Given the description of an element on the screen output the (x, y) to click on. 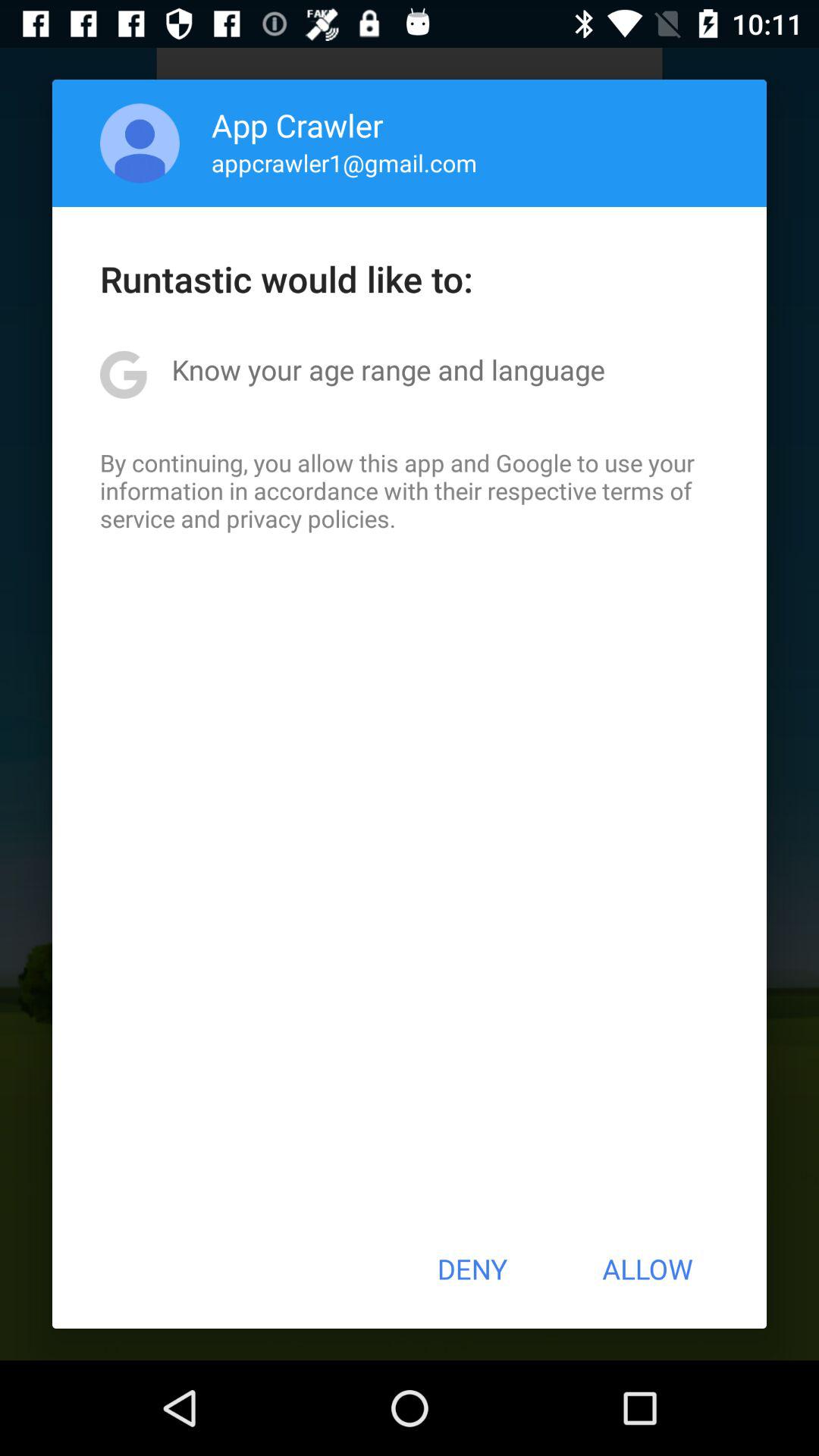
flip to deny button (471, 1268)
